Given the description of an element on the screen output the (x, y) to click on. 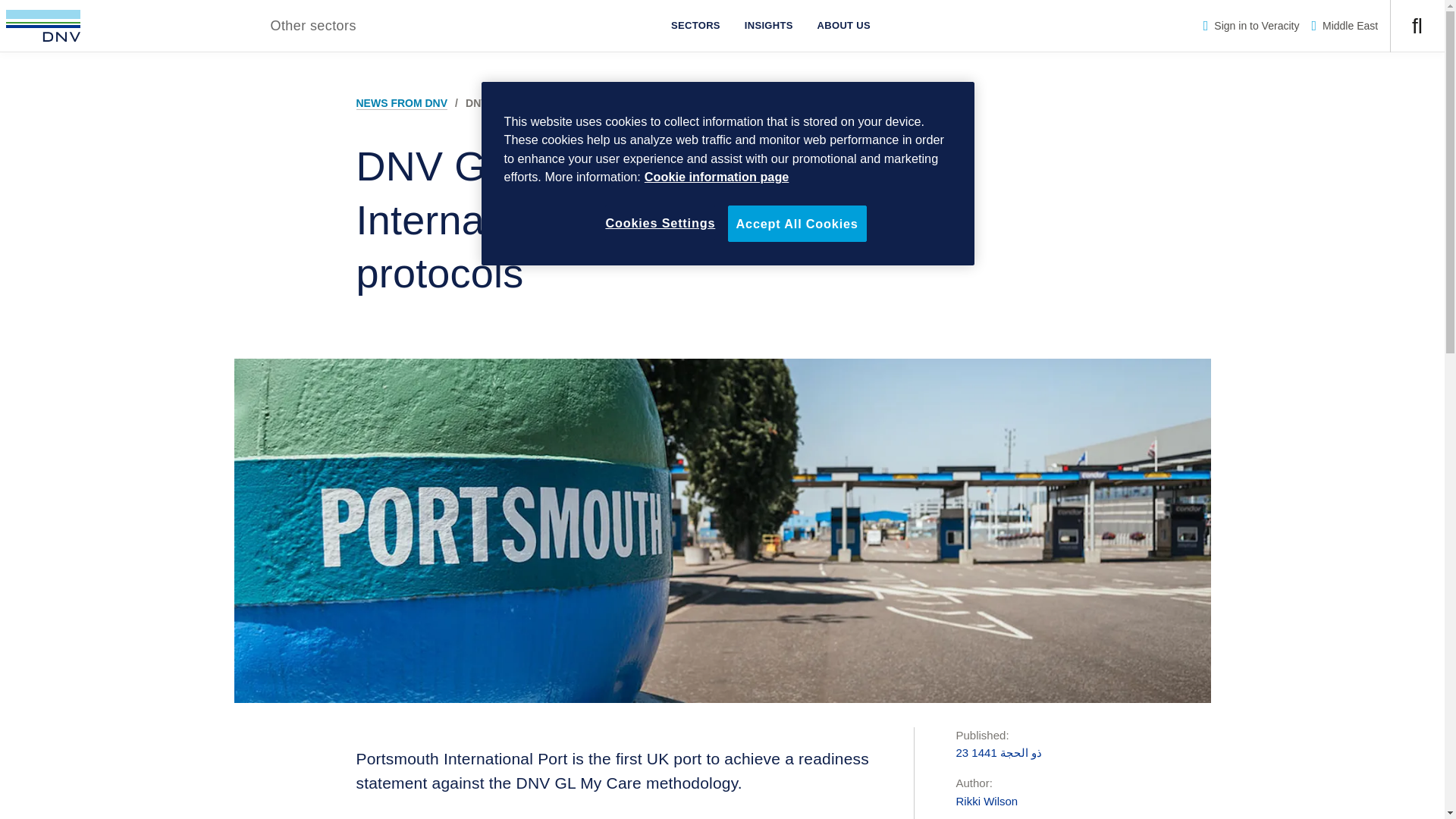
ABOUT US (843, 25)
INSIGHTS (768, 25)
SECTORS (695, 25)
